Given the description of an element on the screen output the (x, y) to click on. 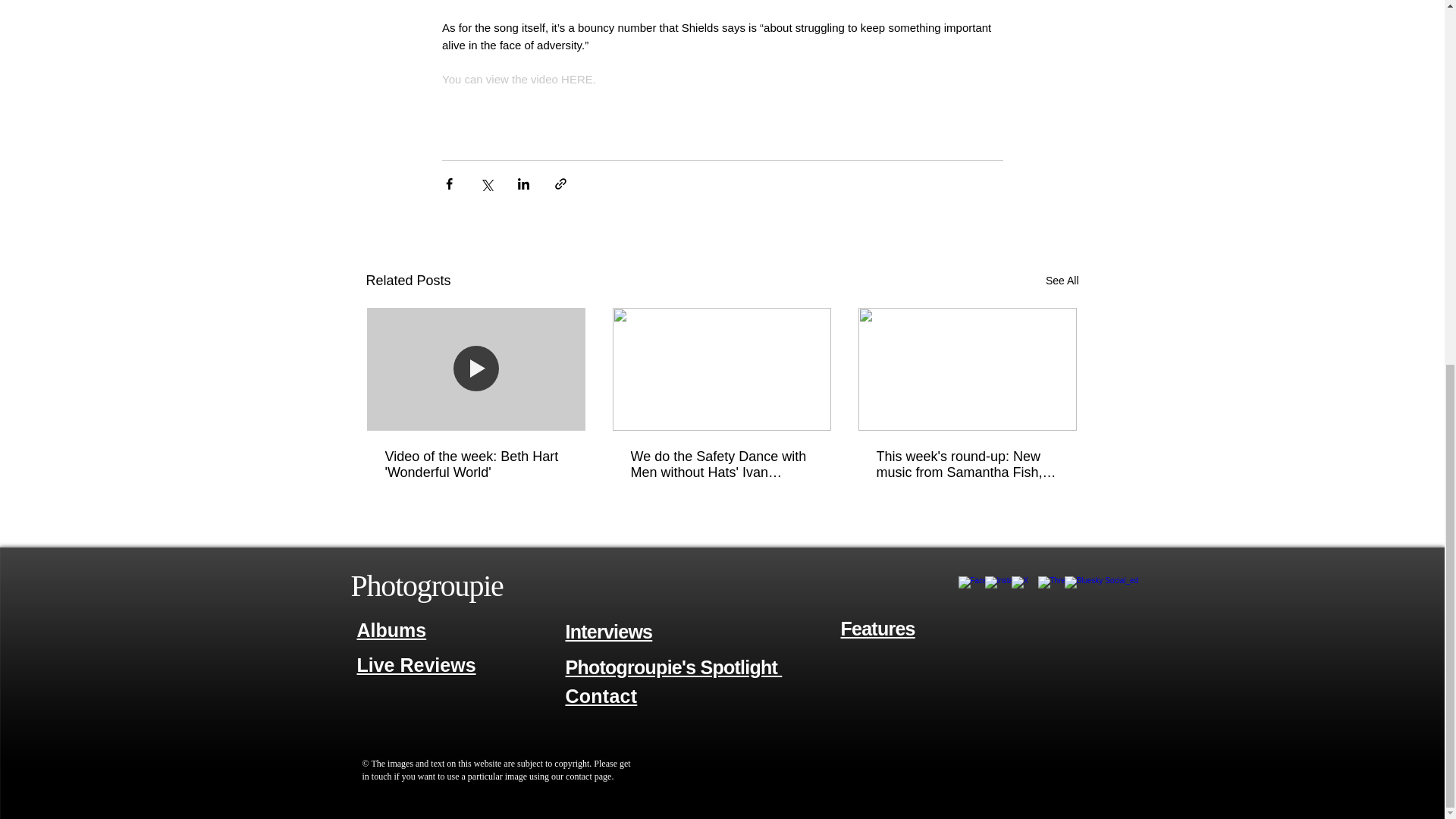
See All (1061, 280)
Photogroupie (426, 585)
You can view the video HERE. (518, 78)
Interviews (609, 631)
Live Reviews (416, 665)
Photogroupie's Spotlight  (674, 667)
Video of the week: Beth Hart 'Wonderful World' (476, 464)
Albums (391, 629)
Contact (601, 696)
We do the Safety Dance with Men without Hats' Ivan Doroschuk (721, 464)
